Given the description of an element on the screen output the (x, y) to click on. 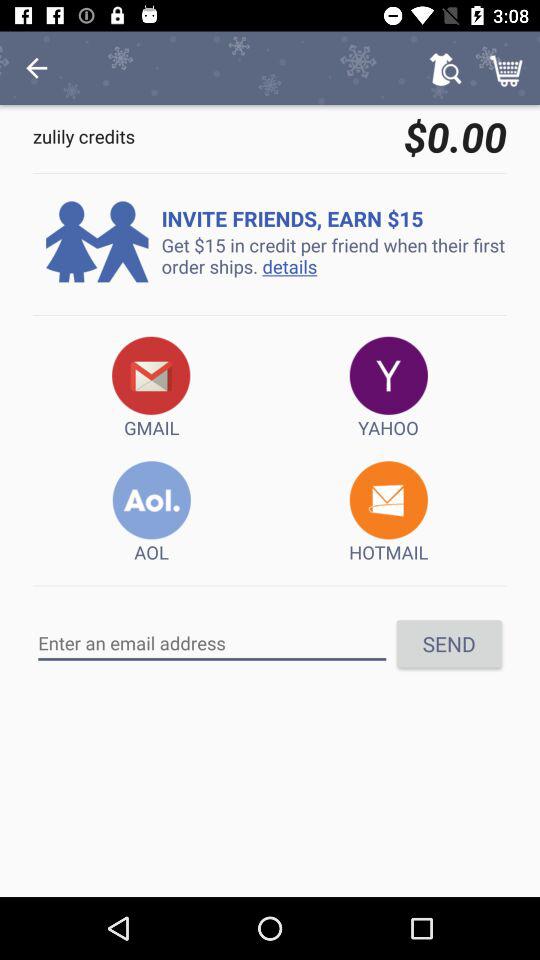
launch icon next to $0.00 (36, 68)
